Given the description of an element on the screen output the (x, y) to click on. 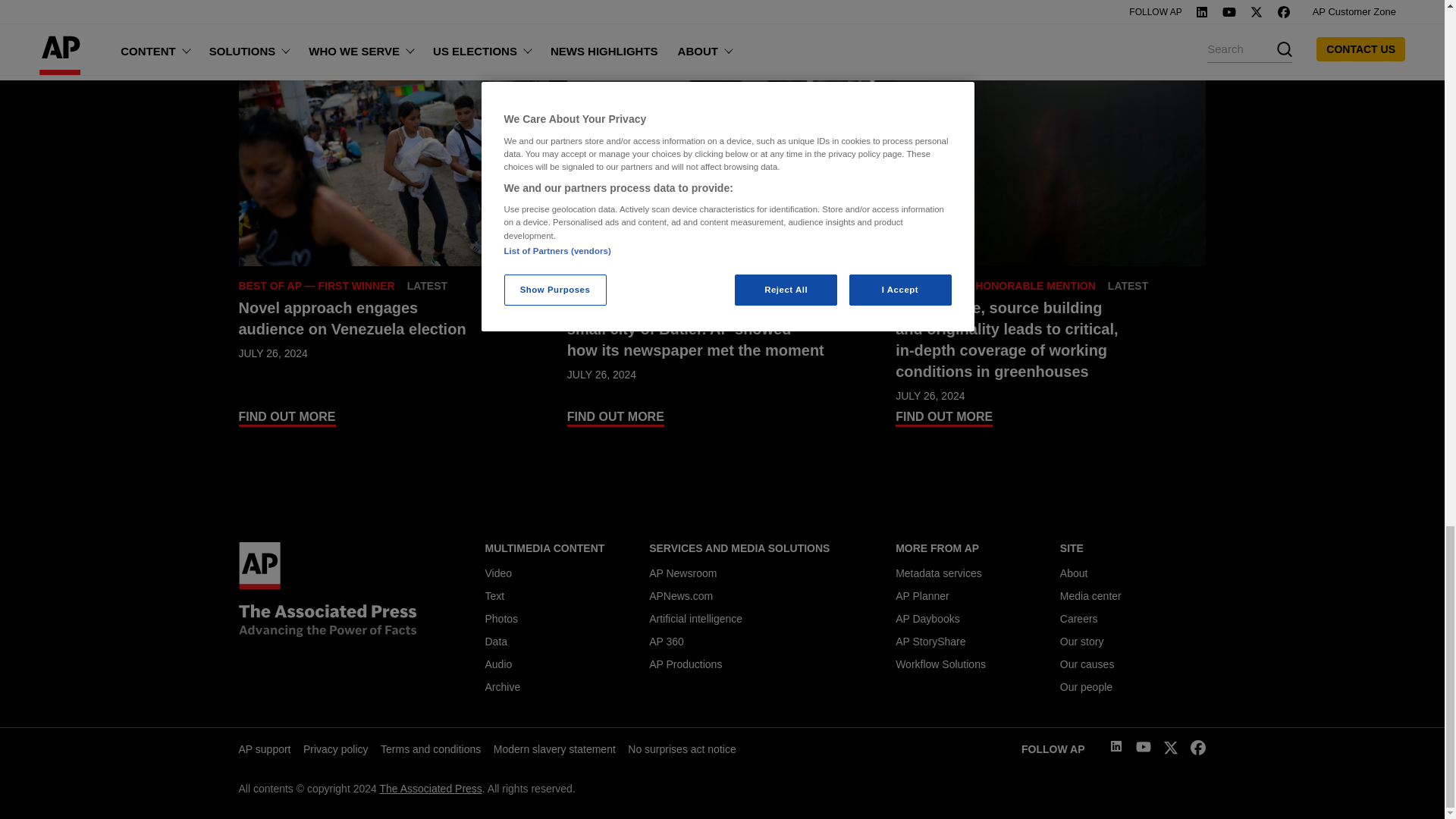
Facebook (1198, 750)
Linkedin (1116, 748)
Twitter (1170, 750)
Youtube (1143, 748)
